Given the description of an element on the screen output the (x, y) to click on. 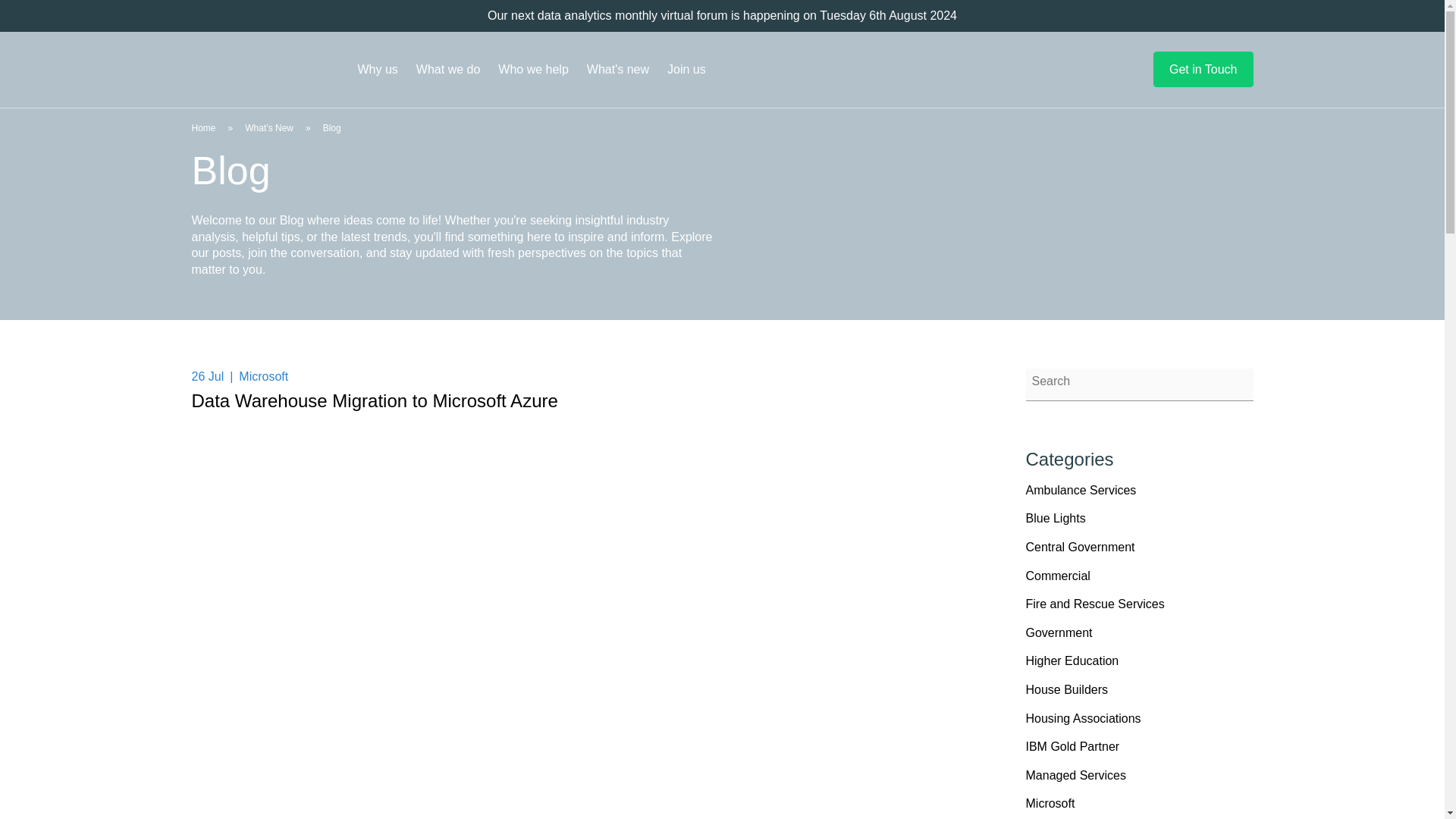
What we do (448, 69)
Who we help (533, 69)
Why us (378, 69)
